Given the description of an element on the screen output the (x, y) to click on. 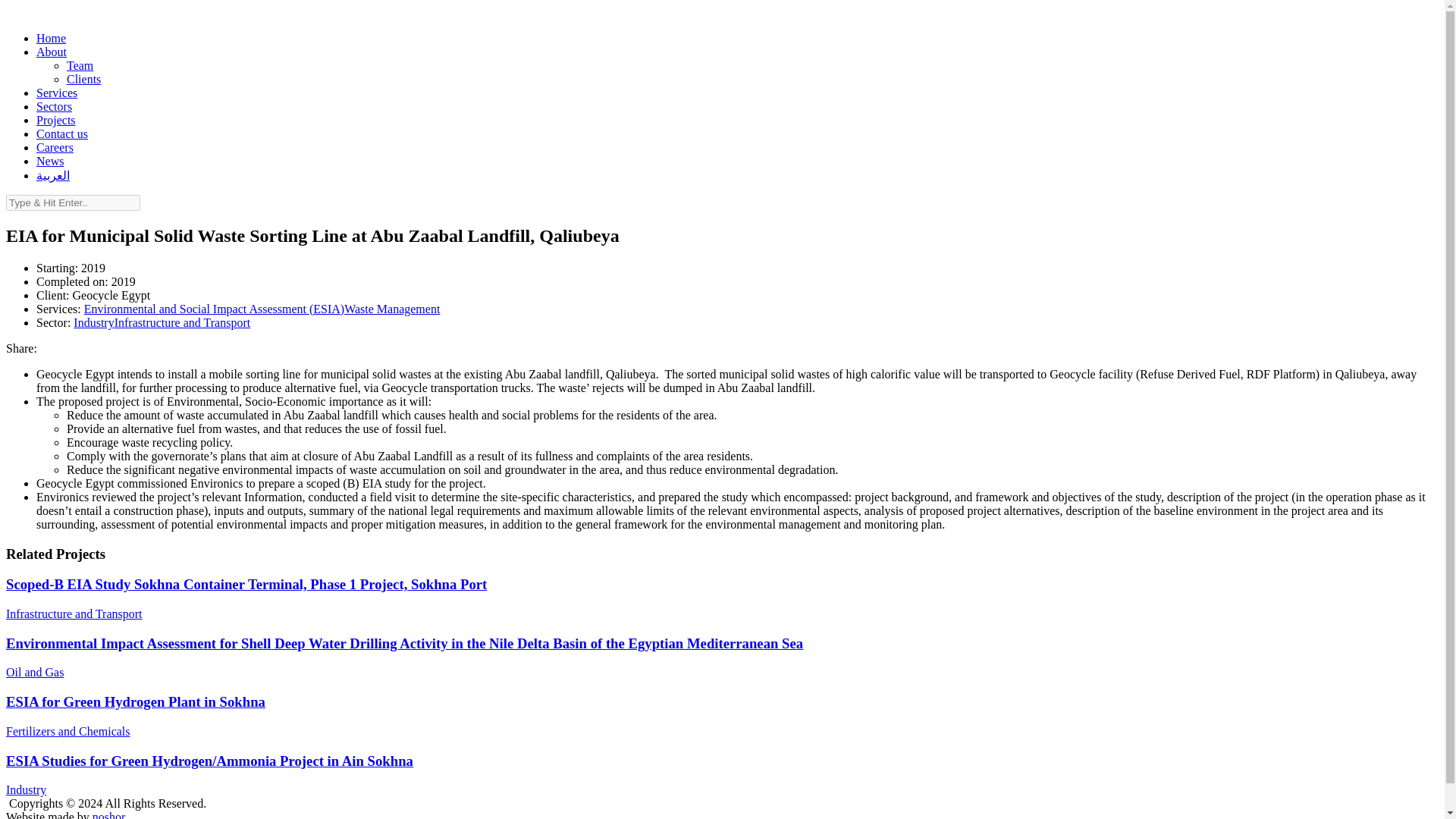
Industry (93, 322)
Industry (25, 789)
Infrastructure and Transport (73, 613)
noshor (109, 814)
Waste Management (391, 308)
Oil and Gas (34, 671)
Infrastructure and Transport (182, 322)
Fertilizers and Chemicals (68, 730)
Enter search text (72, 202)
